Given the description of an element on the screen output the (x, y) to click on. 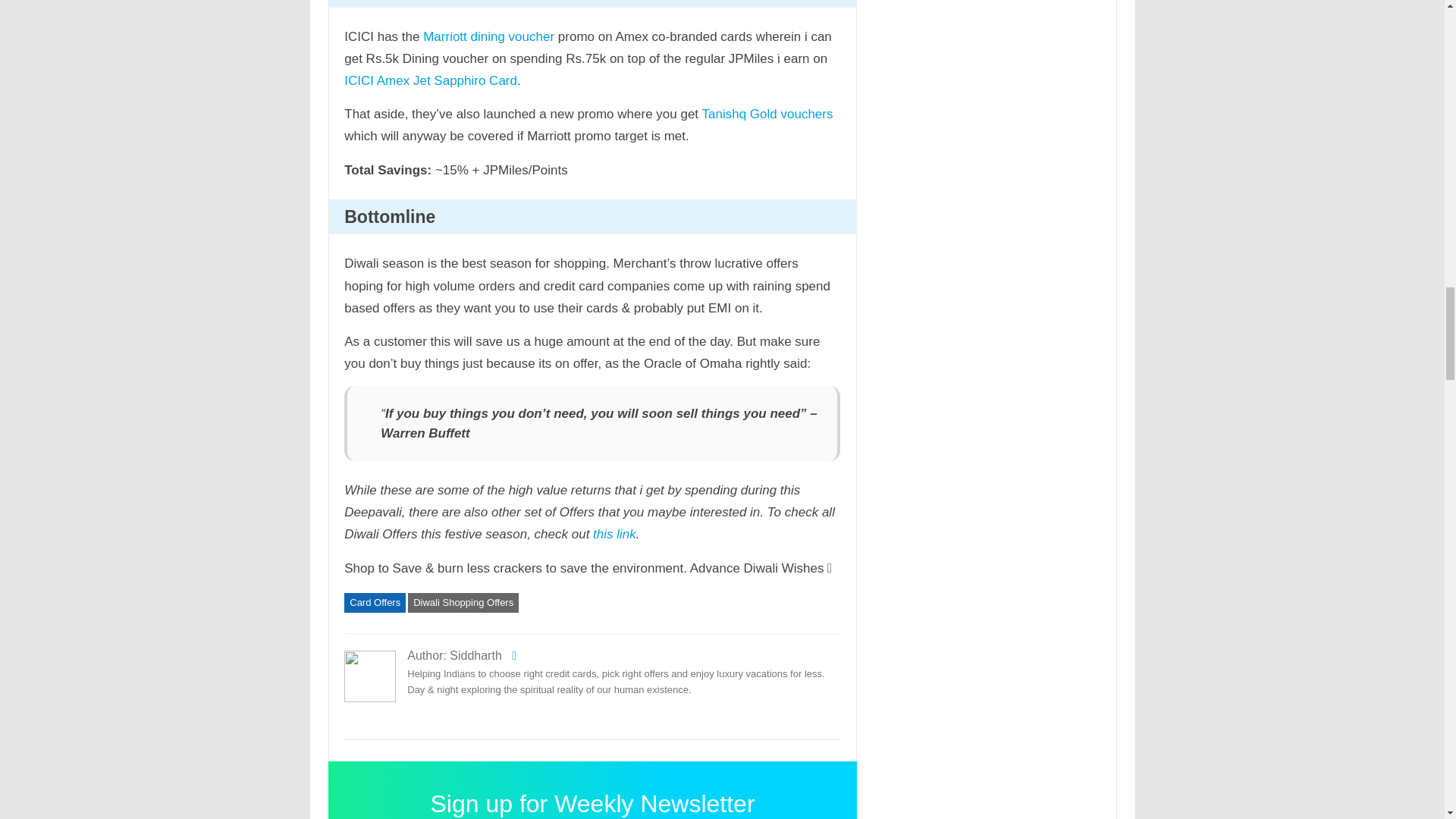
this link (614, 534)
ICICI Amex Jet Sapphiro Card (429, 80)
Card Offers (374, 602)
Marriott dining voucher (488, 36)
Tanishq Gold vouchers (766, 114)
Diwali Shopping Offers (462, 602)
